Given the description of an element on the screen output the (x, y) to click on. 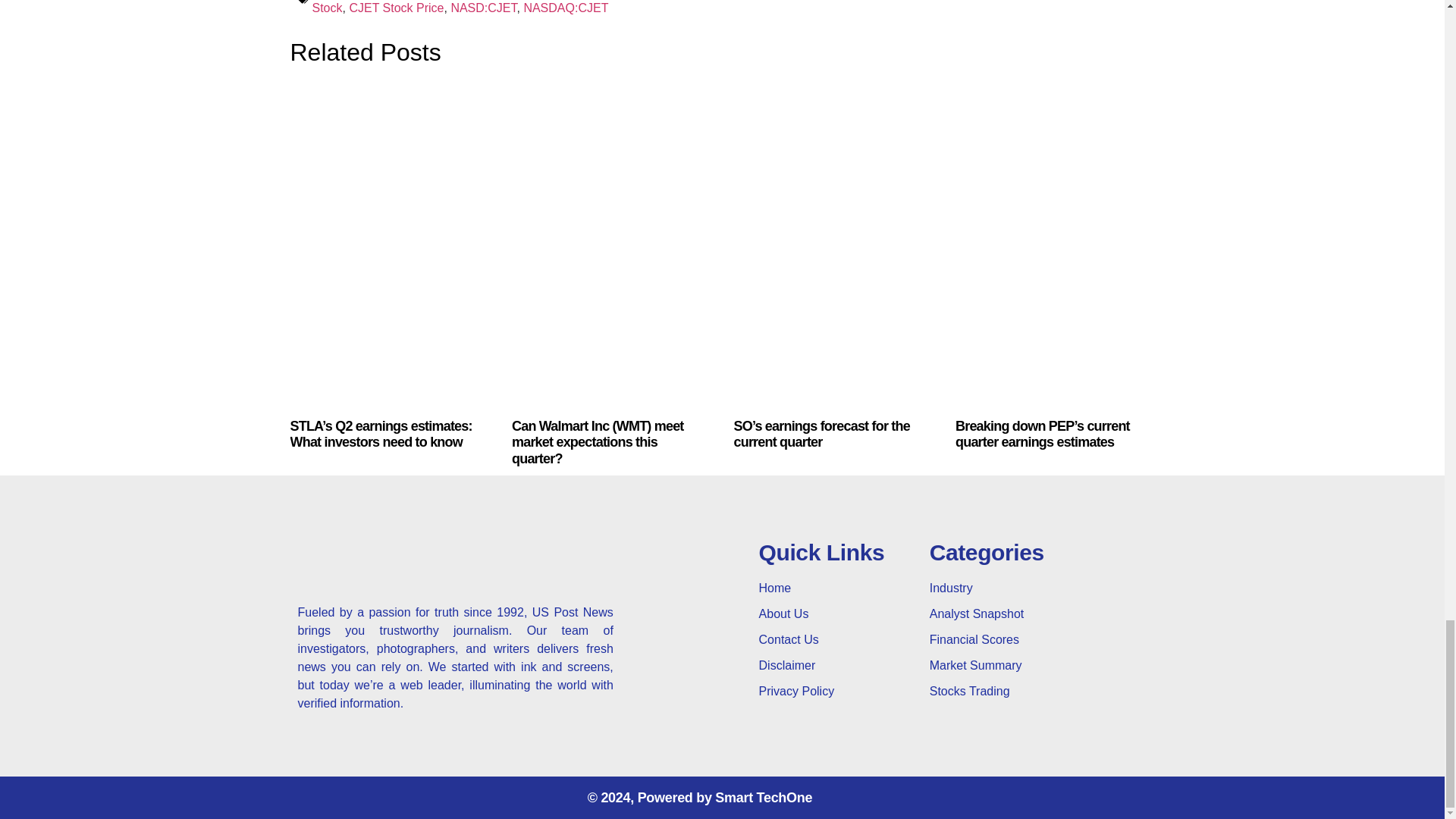
CJET Stock Price (396, 7)
NASD:CJET (482, 7)
CJET Stock (576, 7)
